Given the description of an element on the screen output the (x, y) to click on. 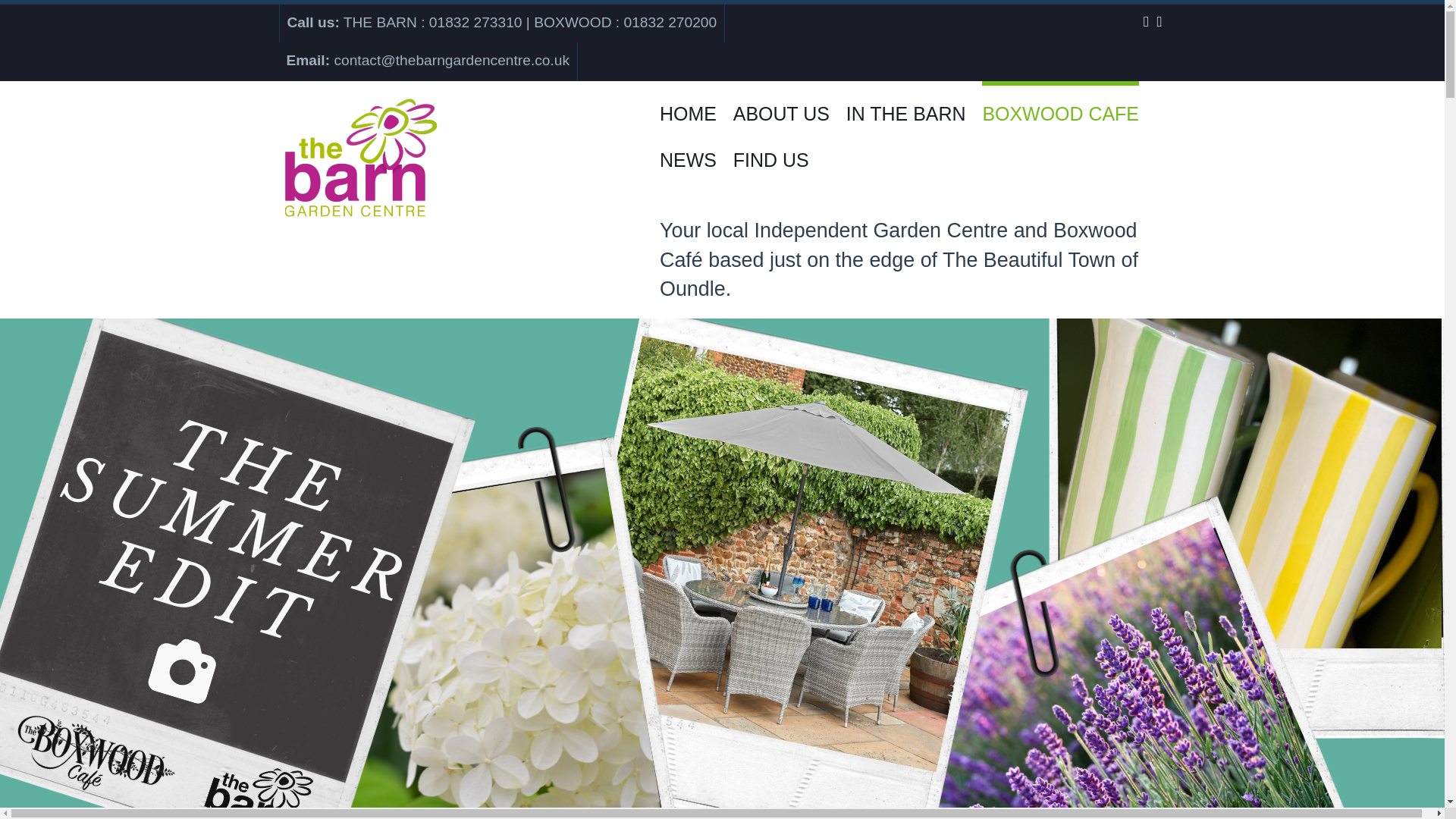
IN THE BARN (905, 104)
FIND US (771, 150)
NEWS (687, 150)
ABOUT US (781, 104)
BOXWOOD CAFE (1059, 104)
HOME (687, 104)
